Given the description of an element on the screen output the (x, y) to click on. 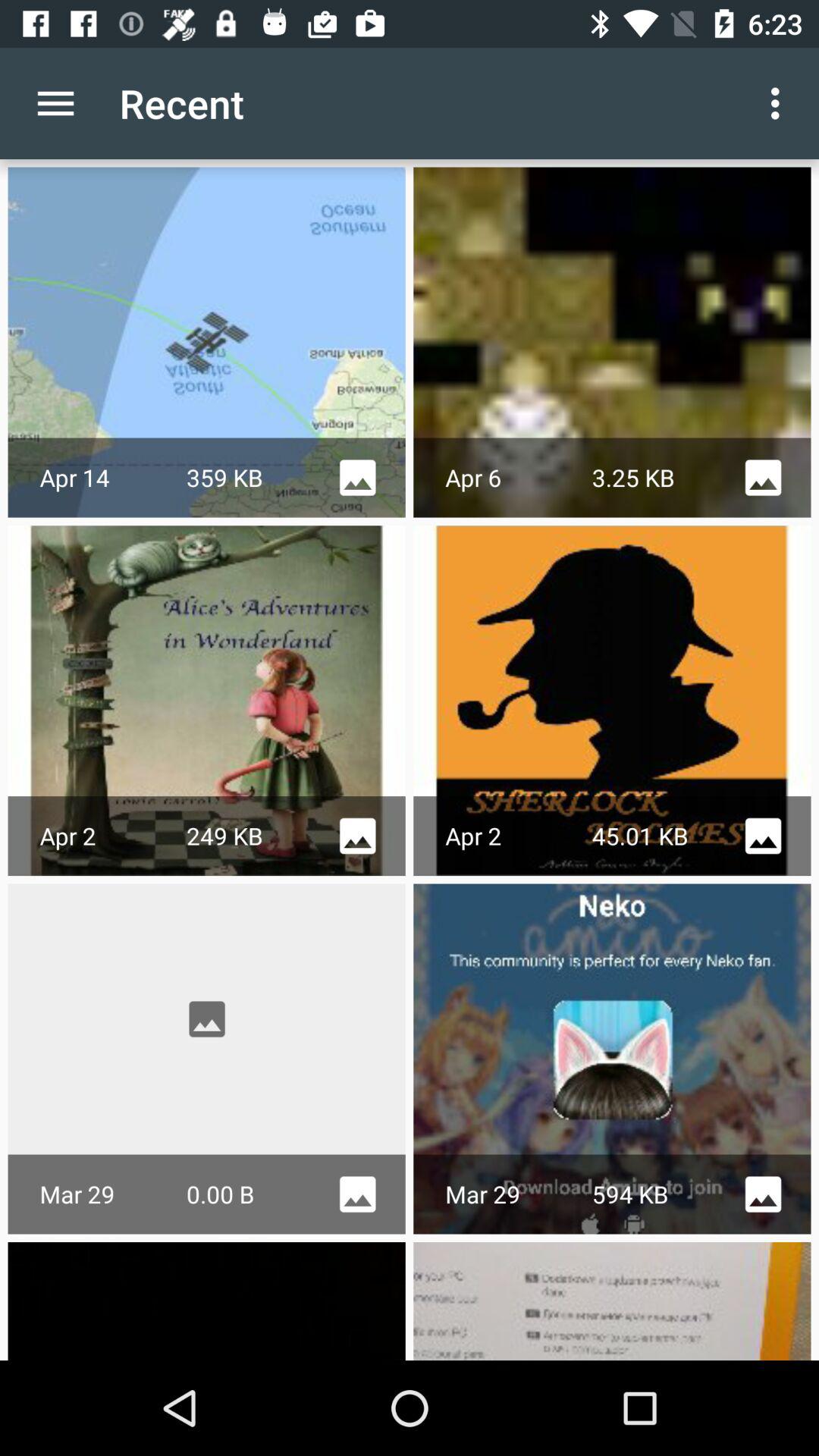
turn off the app to the left of the recent item (55, 103)
